Given the description of an element on the screen output the (x, y) to click on. 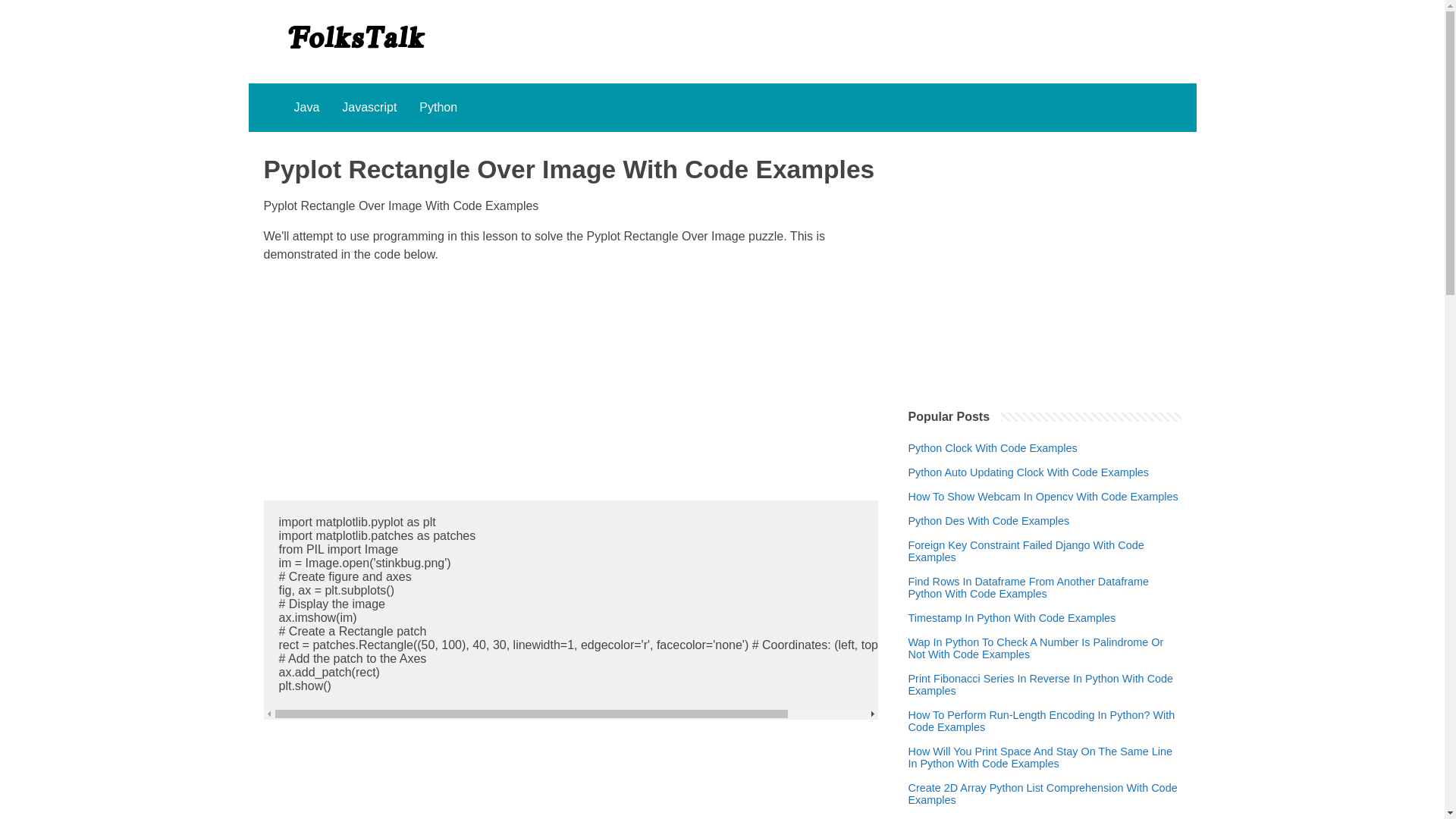
Advertisement (1044, 260)
Advertisement (570, 382)
Timestamp In Python With Code Examples (1012, 617)
Python Des With Code Examples (989, 521)
Create 2D Array Python List Comprehension With Code Examples (1044, 793)
How To Show Webcam In Opencv With Code Examples (1042, 496)
Advertisement (570, 778)
Python Clock With Code Examples (992, 448)
Python Auto Updating Clock With Code Examples (1029, 472)
